Given the description of an element on the screen output the (x, y) to click on. 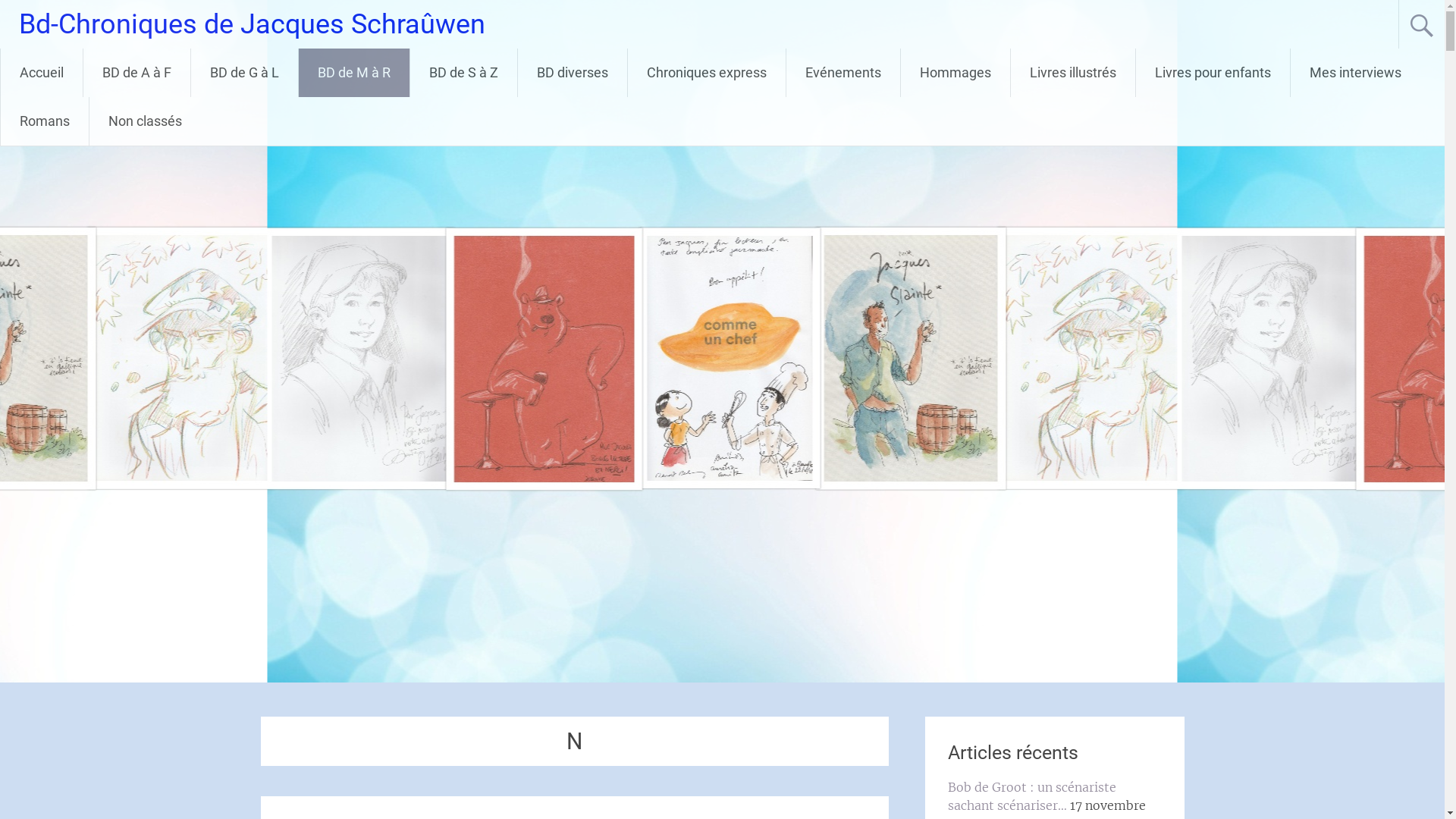
Mes interviews Element type: text (1355, 72)
Romans Element type: text (44, 121)
Hommages Element type: text (955, 72)
Accueil Element type: text (41, 72)
Livres pour enfants Element type: text (1212, 72)
BD diverses Element type: text (572, 72)
Chroniques express Element type: text (706, 72)
